Given the description of an element on the screen output the (x, y) to click on. 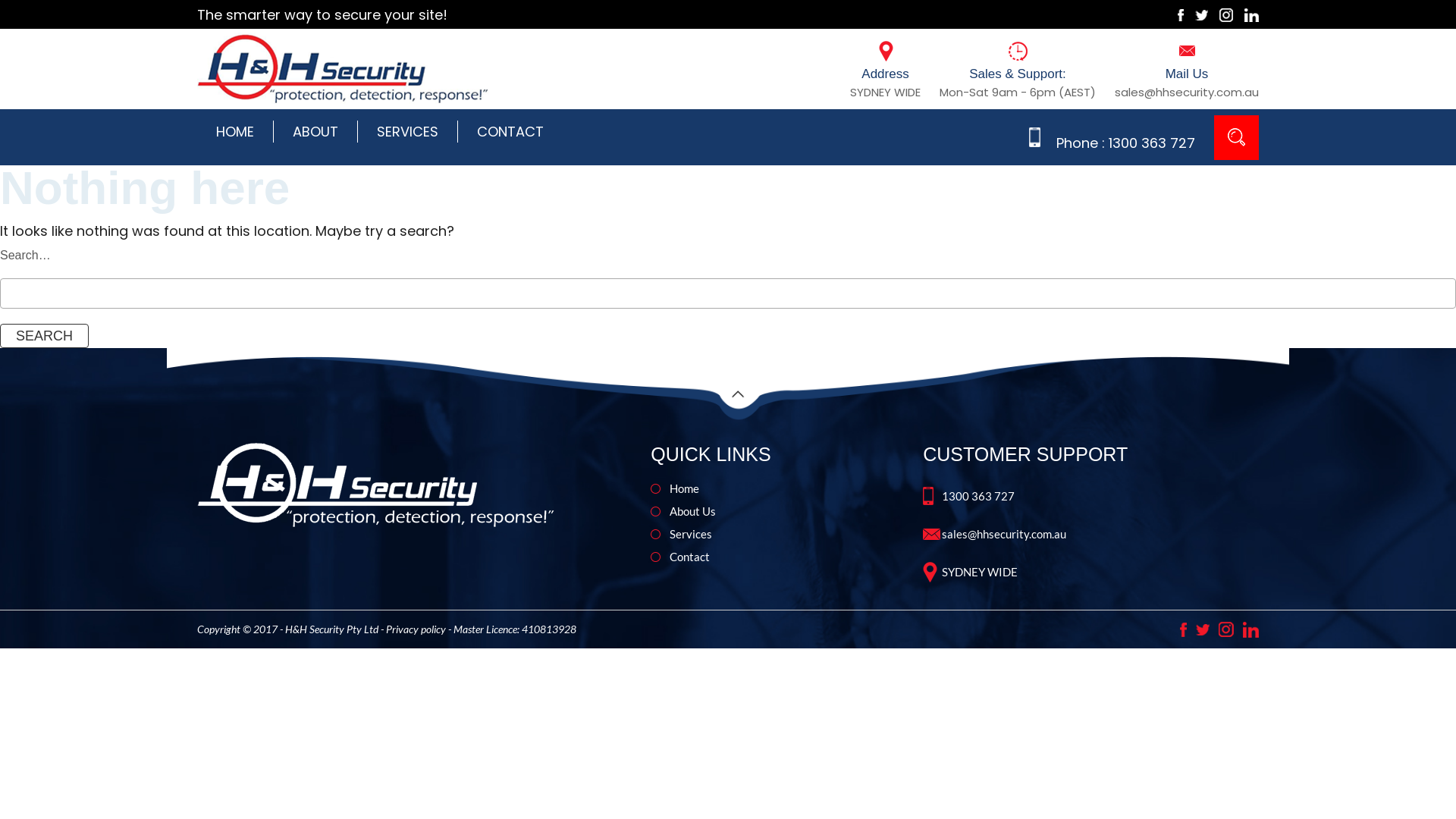
Services Element type: text (782, 533)
SERVICES Element type: text (407, 131)
Search Element type: text (44, 335)
About Us Element type: text (782, 510)
Phone : 1300 363 727 Element type: text (1125, 142)
1300 363 727 Element type: text (1094, 495)
sales@hhsecurity.com.au Element type: text (1186, 92)
HOME Element type: text (235, 131)
ABOUT Element type: text (315, 131)
sales@hhsecurity.com.au Element type: text (1094, 533)
Contact Element type: text (782, 556)
Privacy policy Element type: text (415, 628)
Home Element type: text (782, 487)
CONTACT Element type: text (509, 131)
